Given the description of an element on the screen output the (x, y) to click on. 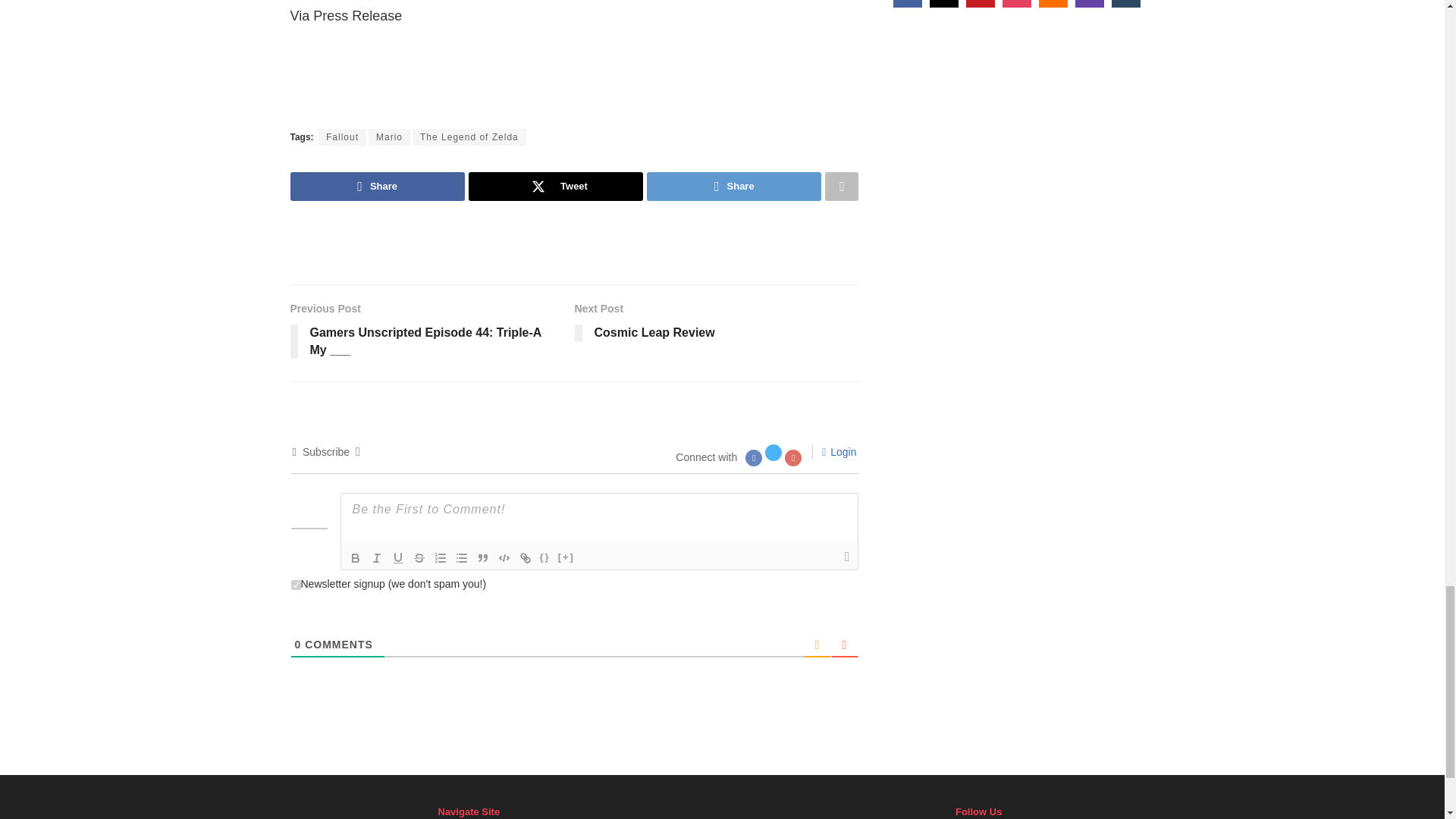
Italic (376, 557)
Underline (397, 557)
Bold (354, 557)
Ordered List (439, 557)
1 (296, 584)
Strike (418, 557)
